Given the description of an element on the screen output the (x, y) to click on. 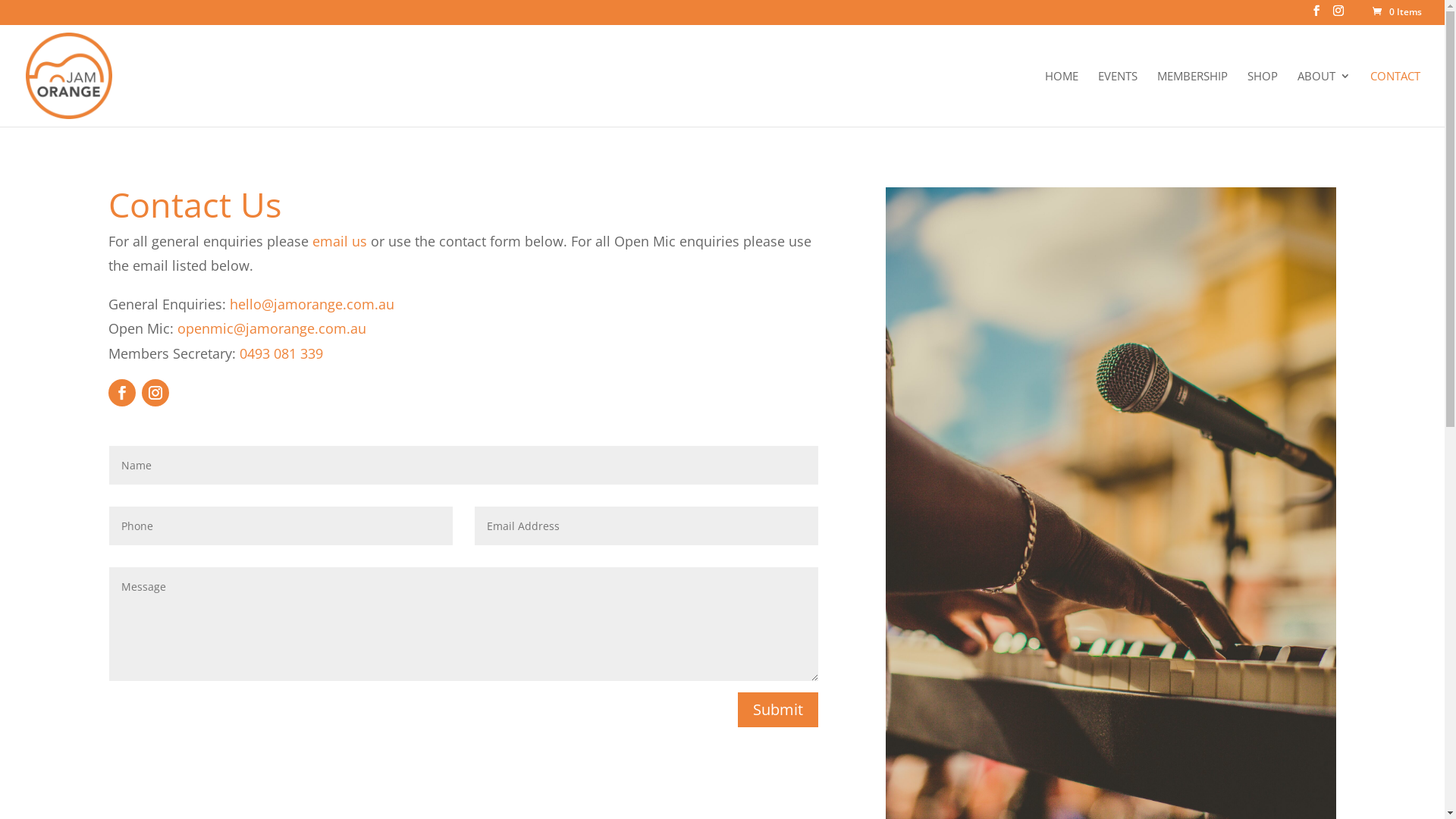
0493 081 339 Element type: text (281, 353)
EVENTS Element type: text (1117, 97)
openmic@jamorange.com.au Element type: text (271, 328)
Submit Element type: text (777, 709)
ABOUT Element type: text (1323, 97)
MEMBERSHIP Element type: text (1192, 97)
Follow on Instagram Element type: hover (155, 392)
hello@jamorange.com.au Element type: text (311, 303)
HOME Element type: text (1061, 97)
Follow on Facebook Element type: hover (121, 392)
0 Items Element type: text (1395, 11)
email us Element type: text (339, 241)
CONTACT Element type: text (1395, 97)
SHOP Element type: text (1262, 97)
